Given the description of an element on the screen output the (x, y) to click on. 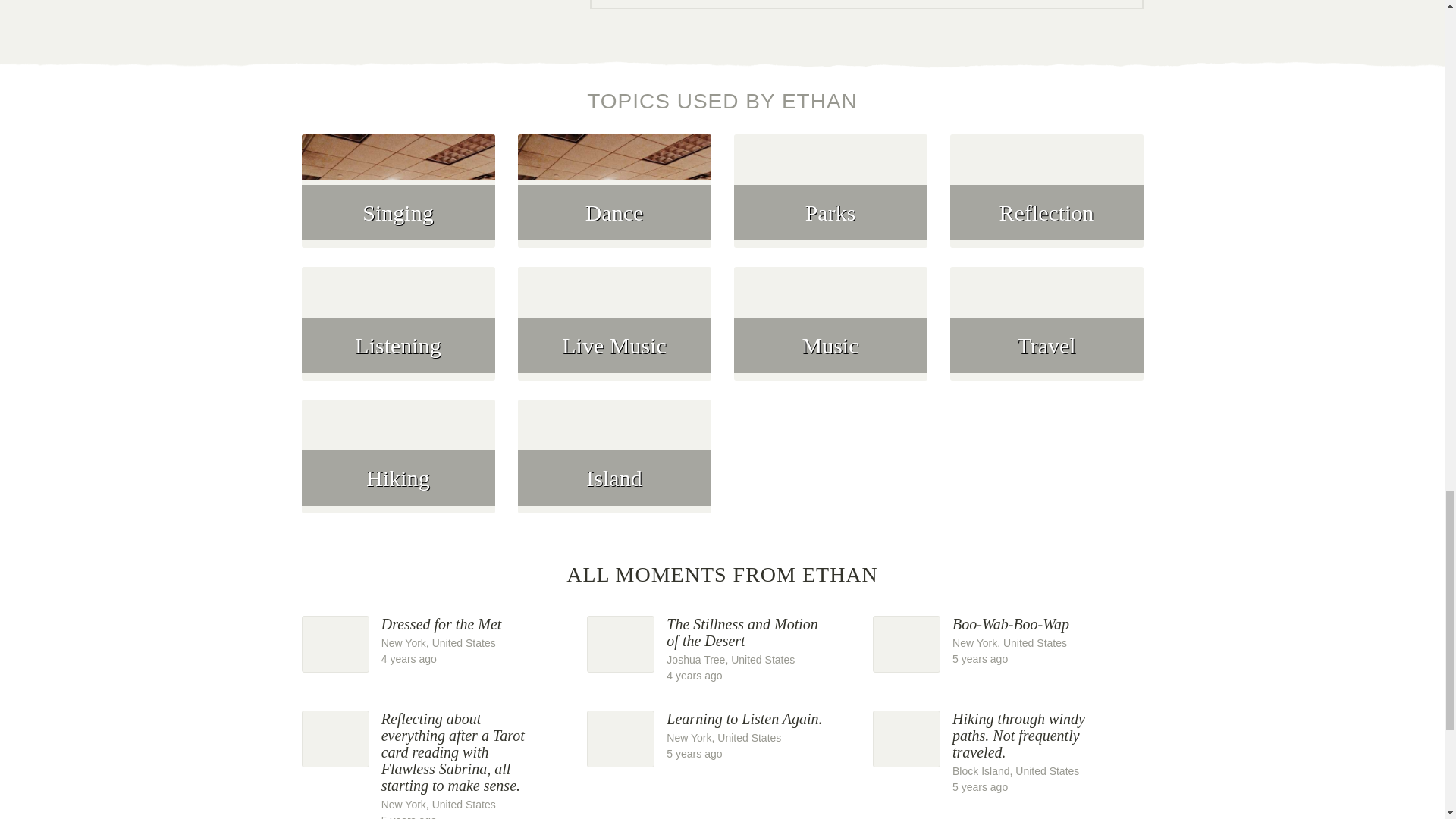
Singing (397, 200)
Live Music (614, 332)
Dance (614, 200)
Travel (1046, 332)
Island (614, 465)
Parks (1007, 640)
Listening (829, 200)
